Given the description of an element on the screen output the (x, y) to click on. 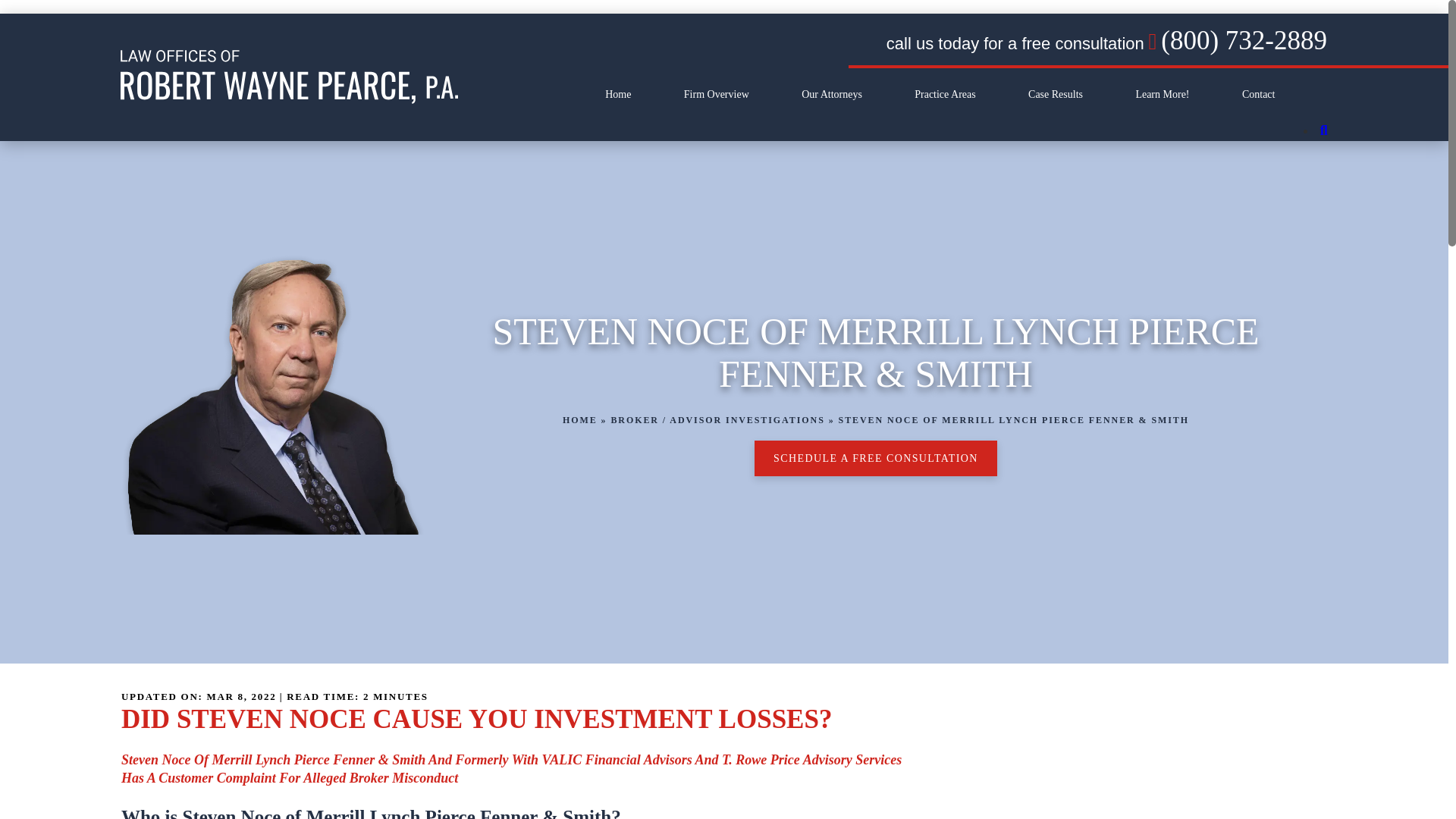
Practice Areas (944, 93)
Case Results (1055, 93)
Our Attorneys (831, 93)
Learn More! (1162, 93)
Firm Overview (716, 93)
Home (617, 93)
